Given the description of an element on the screen output the (x, y) to click on. 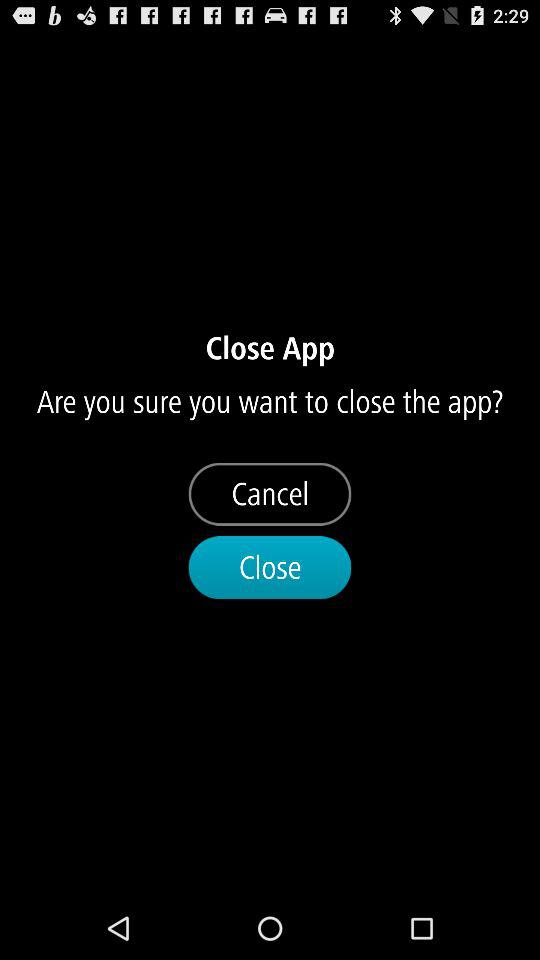
click the cancel icon (269, 493)
